Given the description of an element on the screen output the (x, y) to click on. 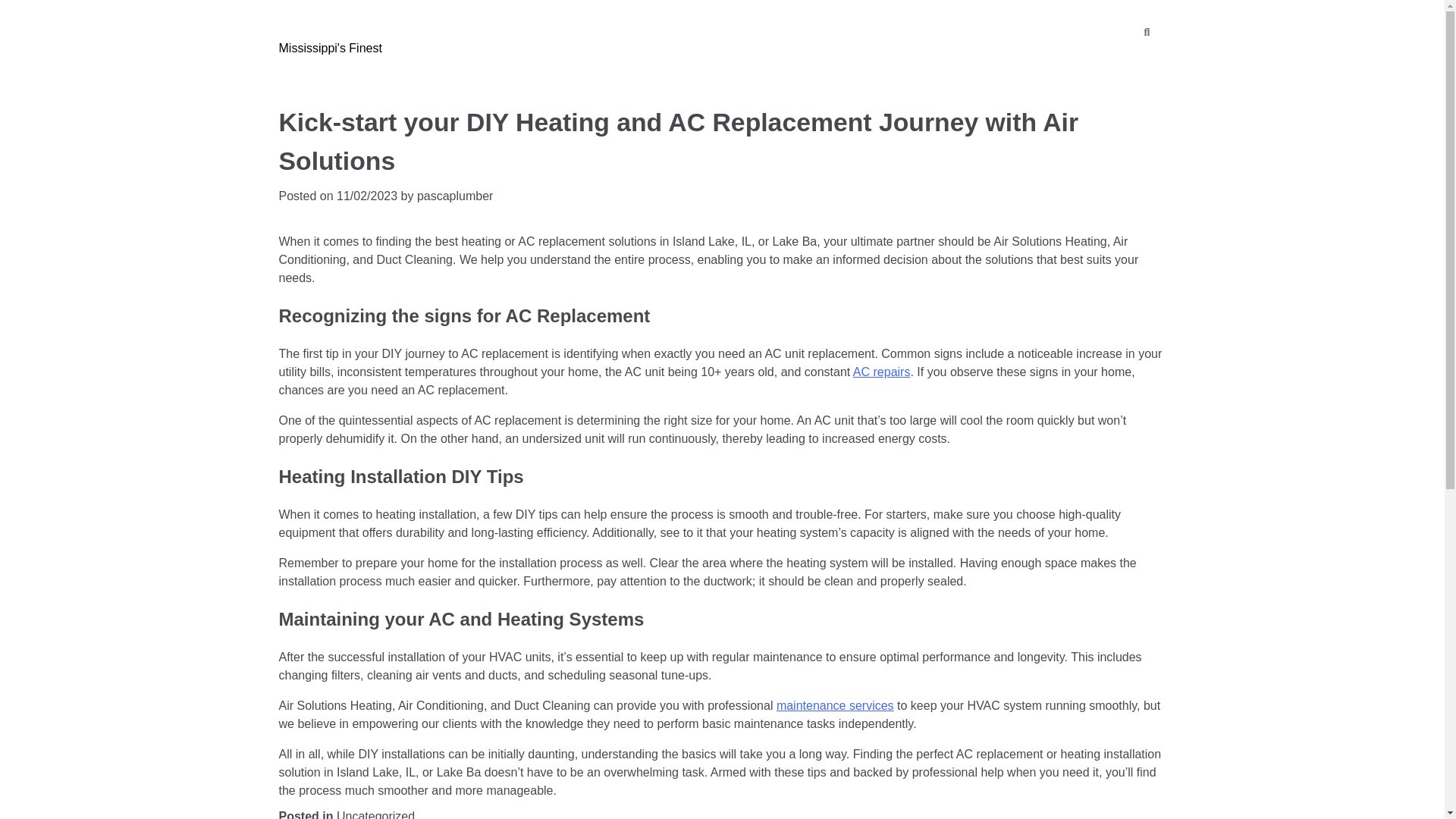
Search (1146, 32)
Uncategorized (375, 814)
pascaplumber (454, 195)
maintenance services (834, 705)
AC repairs (882, 371)
Pascagoula Plumber (390, 21)
Search (1118, 71)
